Given the description of an element on the screen output the (x, y) to click on. 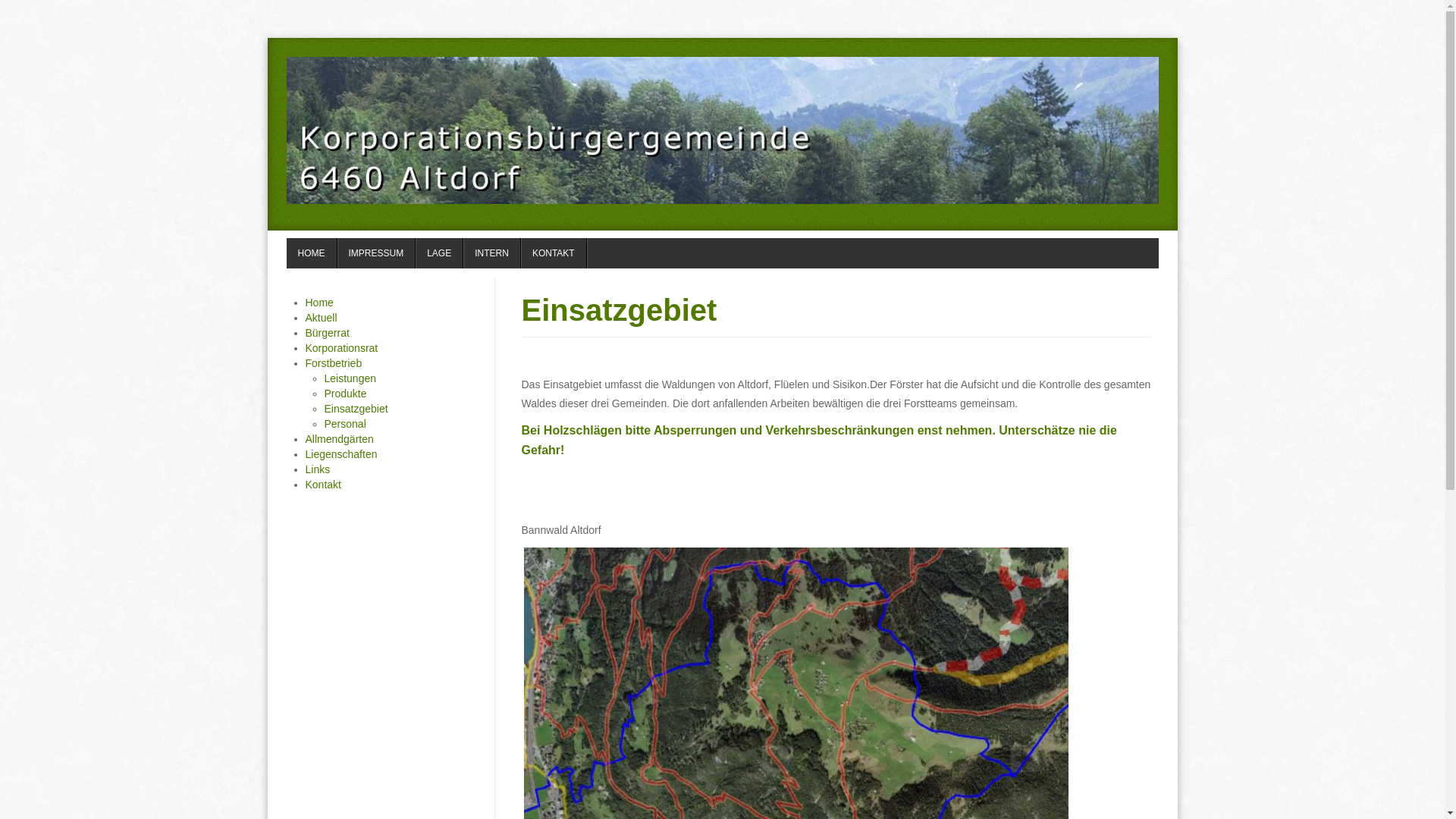
Leistungen Element type: text (350, 378)
Produkte Element type: text (345, 393)
INTERN Element type: text (491, 253)
IMPRESSUM Element type: text (375, 253)
Forstbetrieb Element type: text (332, 363)
LAGE Element type: text (439, 253)
HOME Element type: text (311, 253)
Korporationsrat Element type: text (340, 348)
KONTAKT Element type: text (553, 253)
Personal Element type: text (345, 423)
Links Element type: text (316, 469)
Einsatzgebiet Element type: text (619, 309)
Aktuell Element type: text (320, 317)
Home Element type: text (318, 302)
Kontakt Element type: text (322, 484)
Liegenschaften Element type: text (340, 454)
Einsatzgebiet Element type: text (356, 408)
